Given the description of an element on the screen output the (x, y) to click on. 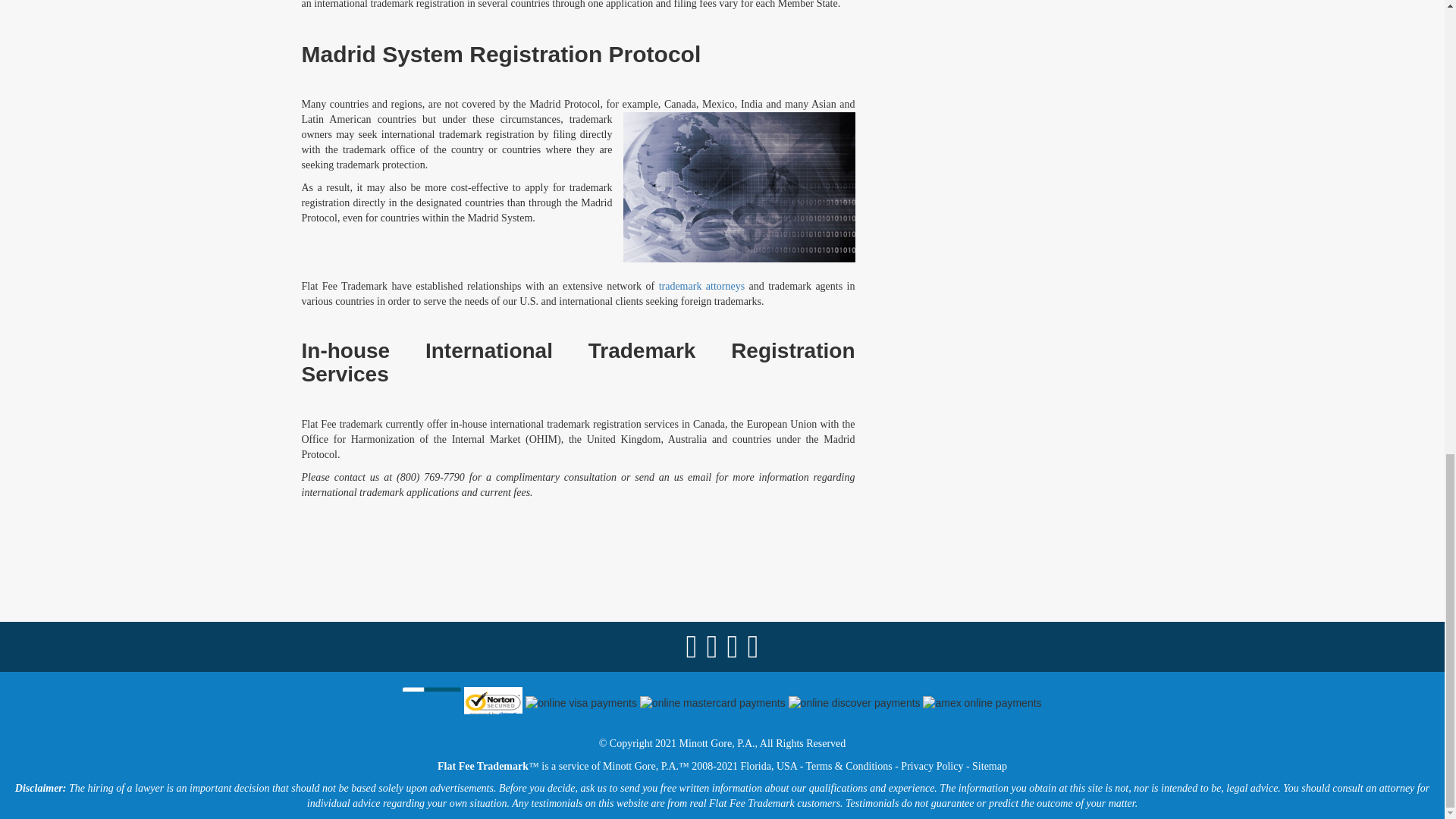
Minott Gore, P.A. (717, 743)
Privacy Policy (931, 765)
trademark attorneys (702, 285)
Sitemap (989, 765)
